Given the description of an element on the screen output the (x, y) to click on. 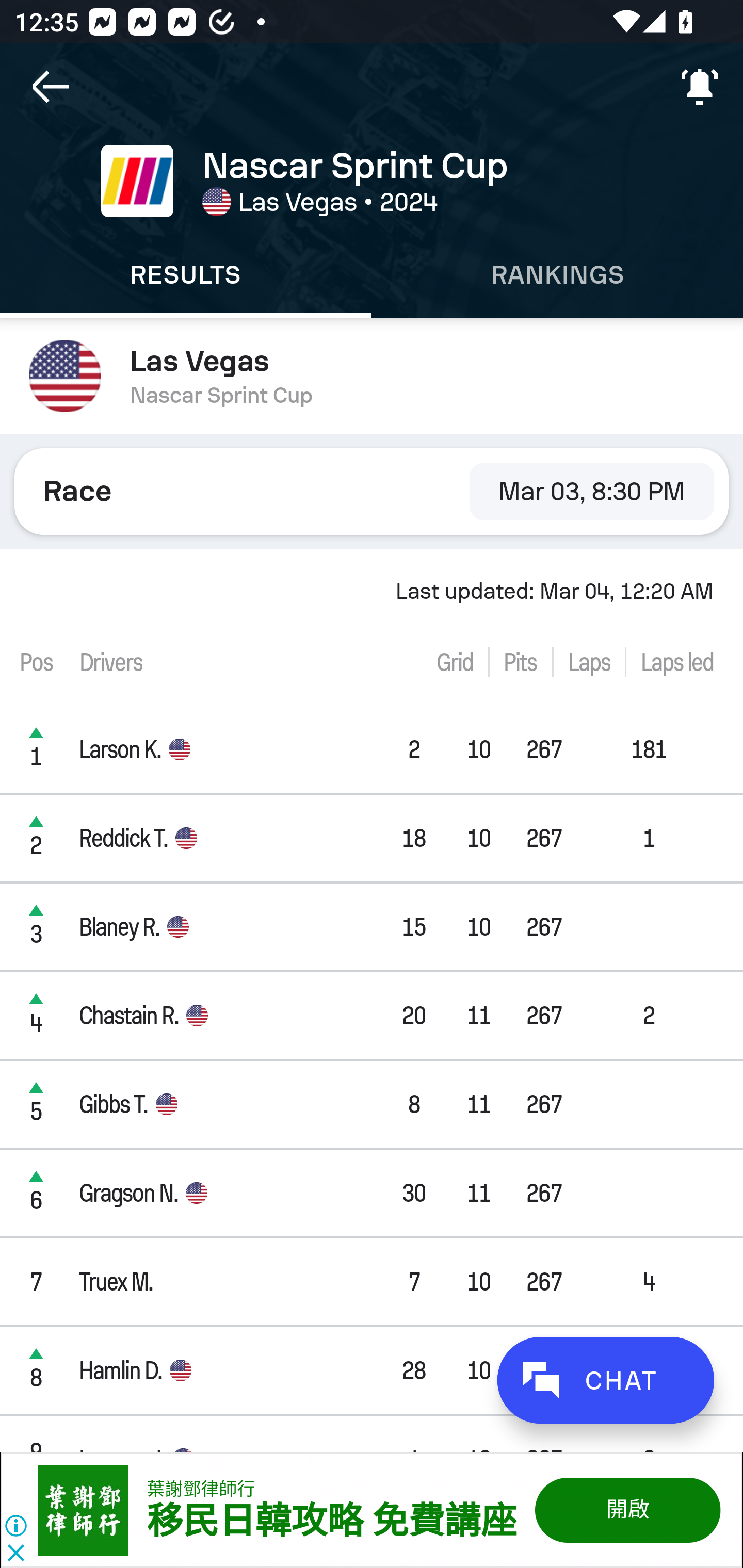
Navigate up (50, 86)
Rankings RANKINGS (557, 275)
Race Mar 03, 8:30 PM (371, 491)
Mar 03, 8:30 PM (591, 491)
1 Larson K. 2 10 267 181 (371, 749)
2 Reddick T. 18 10 267 1 (371, 837)
3 Blaney R. 15 10 267 (371, 926)
4 Chastain R. 20 11 267 2 (371, 1015)
5 Gibbs T. 8 11 267 (371, 1104)
6 Gragson N. 30 11 267 (371, 1192)
7 Truex M. 7 10 267 4 (371, 1281)
8 Hamlin D. 28 10 267 16 (371, 1370)
CHAT (605, 1380)
葉謝鄧律師行 (200, 1488)
開啟 (626, 1509)
移民日韓攻略 免費講座 (330, 1521)
